Given the description of an element on the screen output the (x, y) to click on. 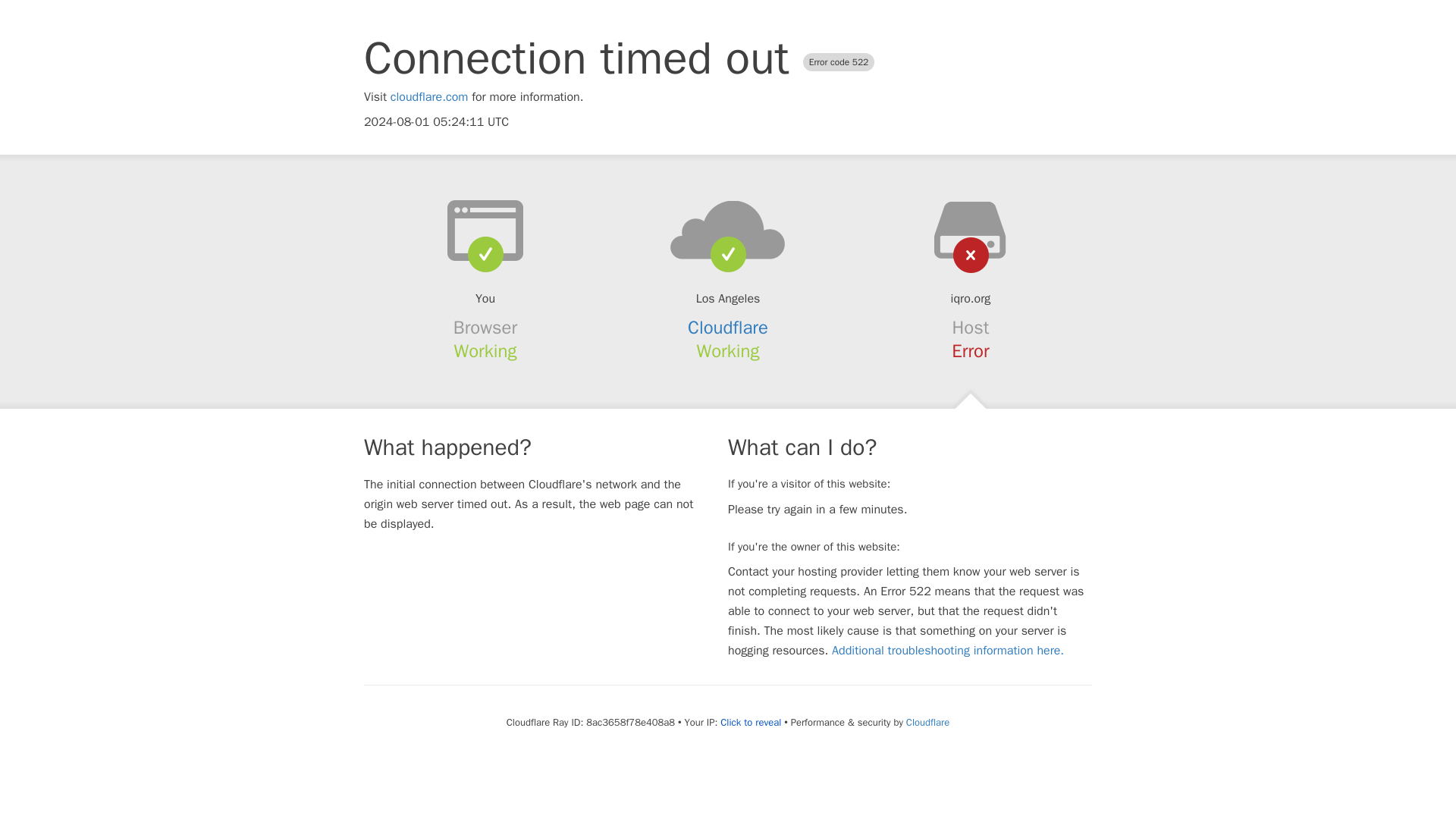
Cloudflare (927, 721)
Additional troubleshooting information here. (947, 650)
cloudflare.com (429, 96)
Click to reveal (750, 722)
Cloudflare (727, 327)
